Given the description of an element on the screen output the (x, y) to click on. 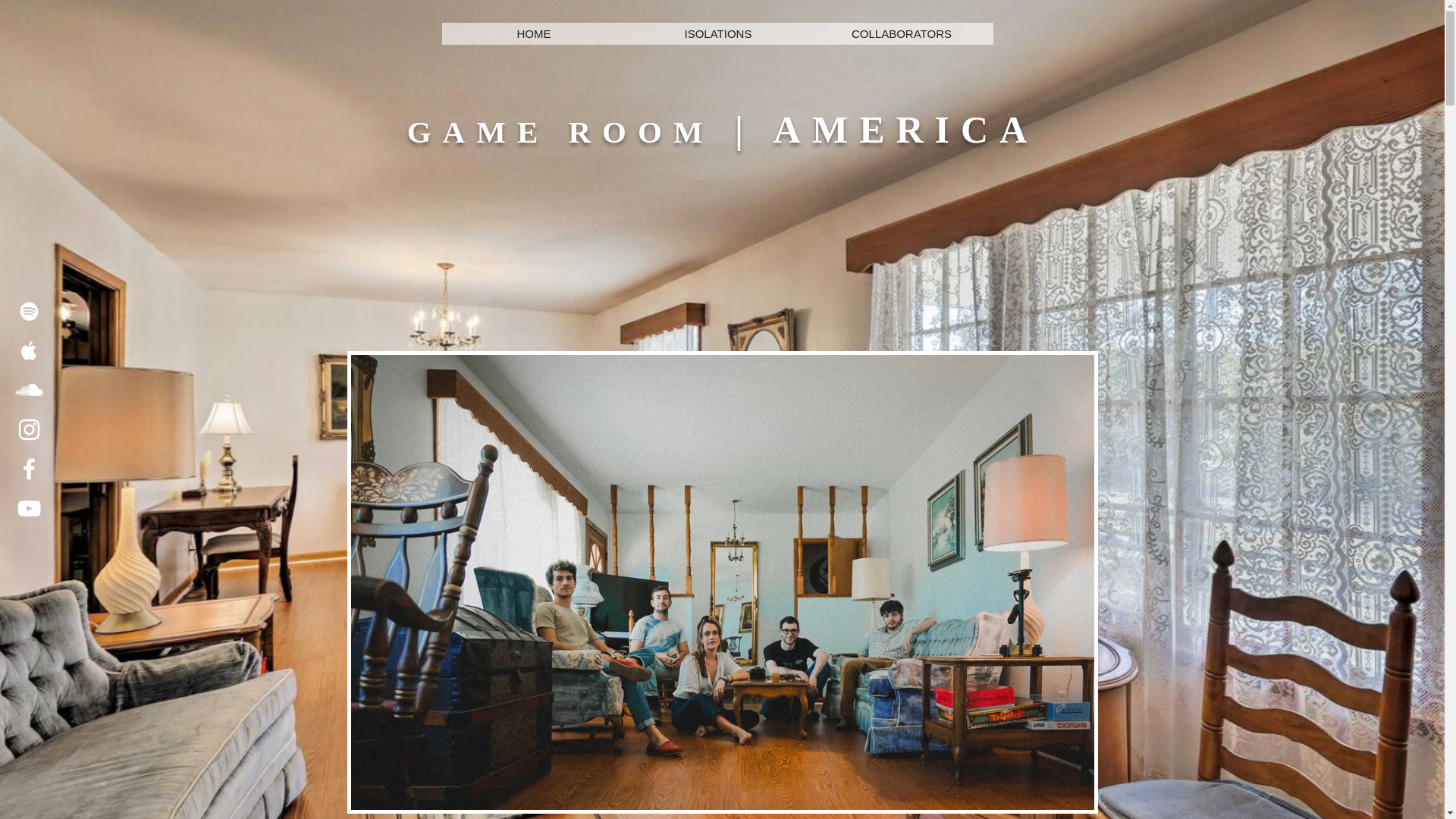
HOME (533, 33)
COLLABORATORS (900, 33)
ISOLATIONS (717, 33)
